Given the description of an element on the screen output the (x, y) to click on. 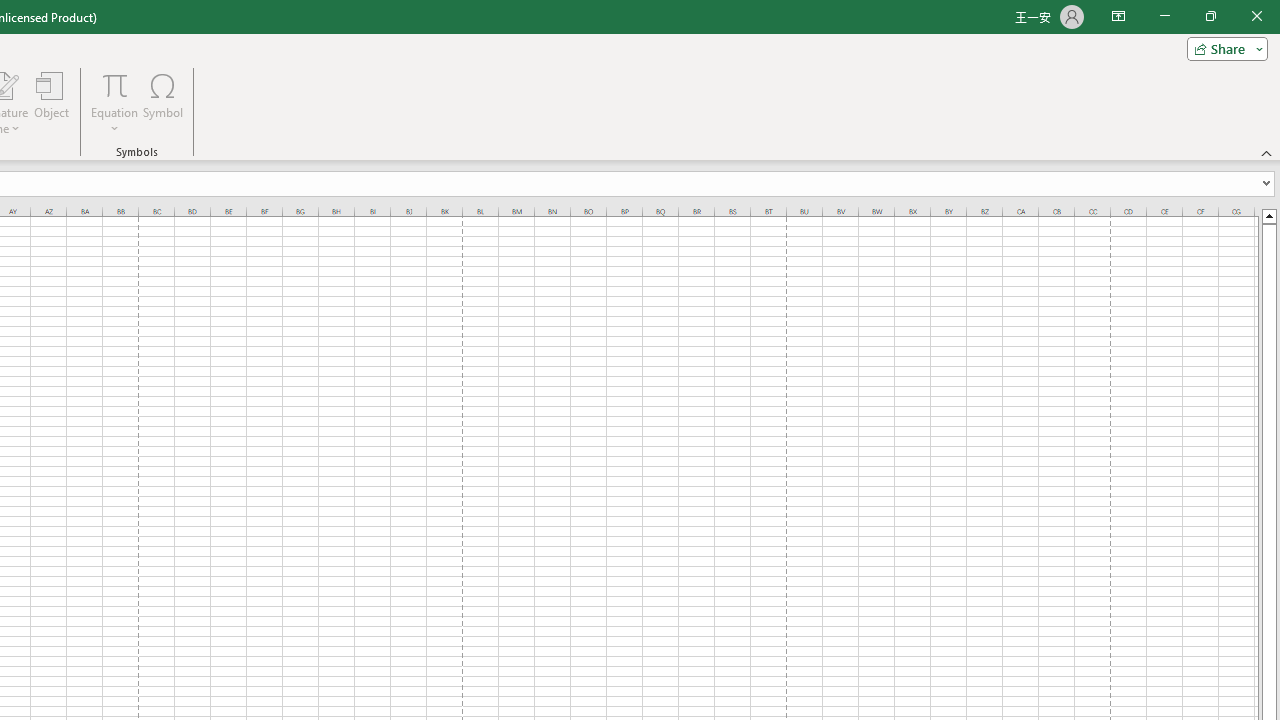
Symbol... (162, 102)
Equation (114, 84)
Equation (114, 102)
Object... (51, 102)
